Given the description of an element on the screen output the (x, y) to click on. 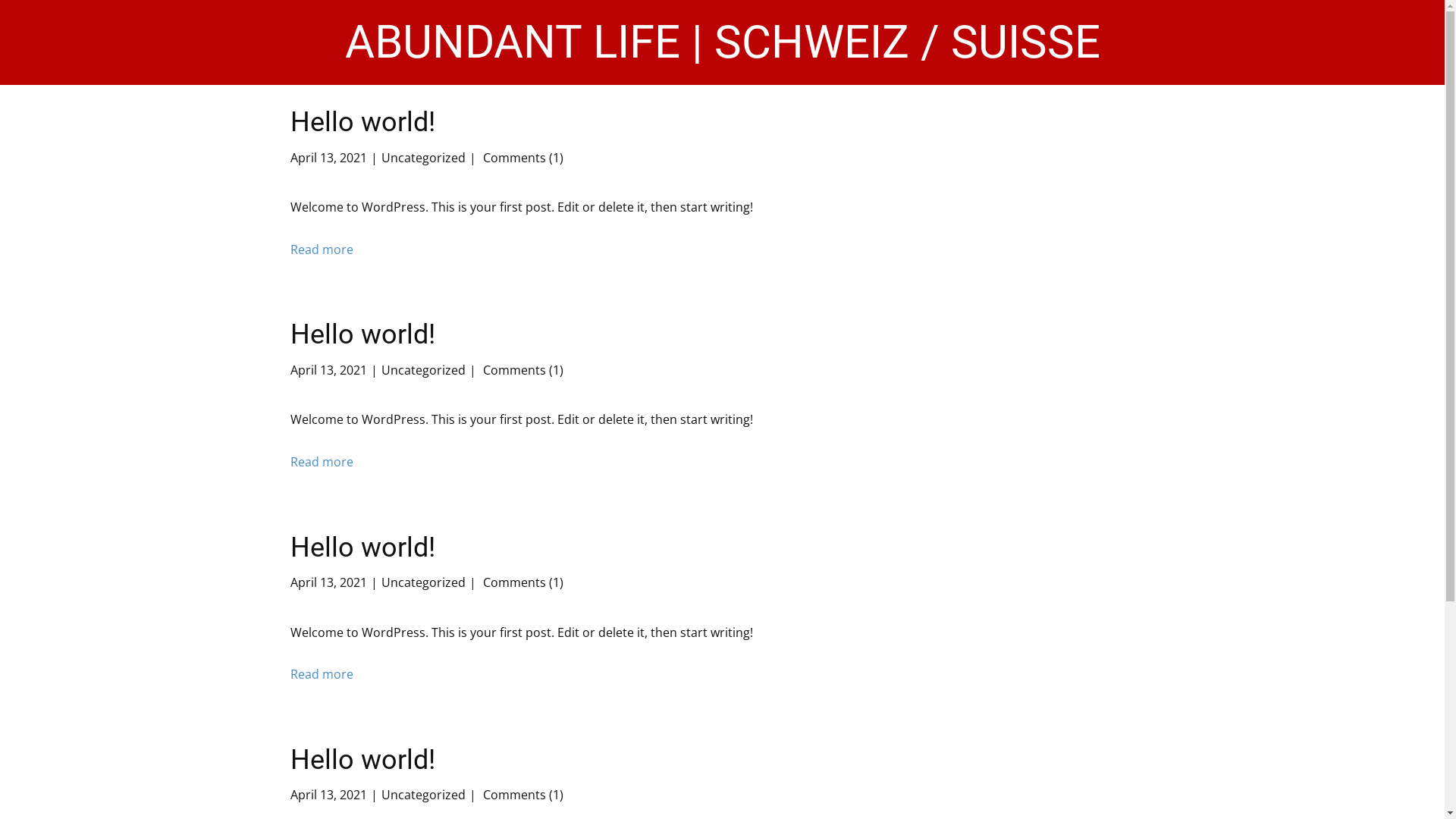
Uncategorized Element type: text (422, 794)
Comments (1) Element type: text (520, 582)
Comments (1) Element type: text (520, 157)
Uncategorized Element type: text (422, 369)
Hello world! Element type: text (361, 547)
Read more Element type: text (320, 462)
Hello world! Element type: text (361, 334)
Read more Element type: text (320, 674)
Hello world! Element type: text (361, 759)
Read more Element type: text (320, 250)
Comments (1) Element type: text (520, 794)
Uncategorized Element type: text (422, 157)
Hello world! Element type: text (361, 122)
Comments (1) Element type: text (520, 369)
Uncategorized Element type: text (422, 582)
